Given the description of an element on the screen output the (x, y) to click on. 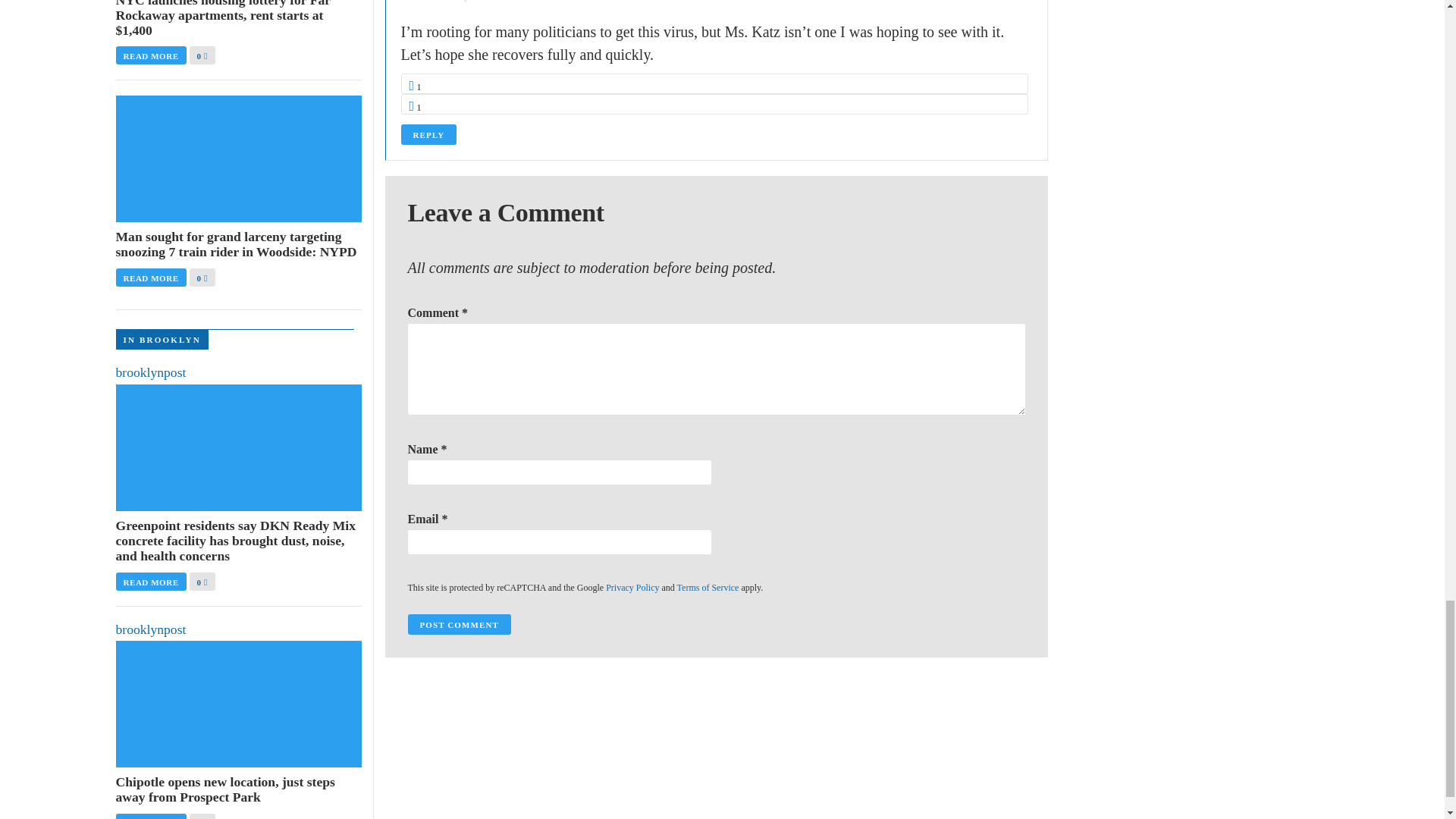
Post Comment (459, 624)
